Given the description of an element on the screen output the (x, y) to click on. 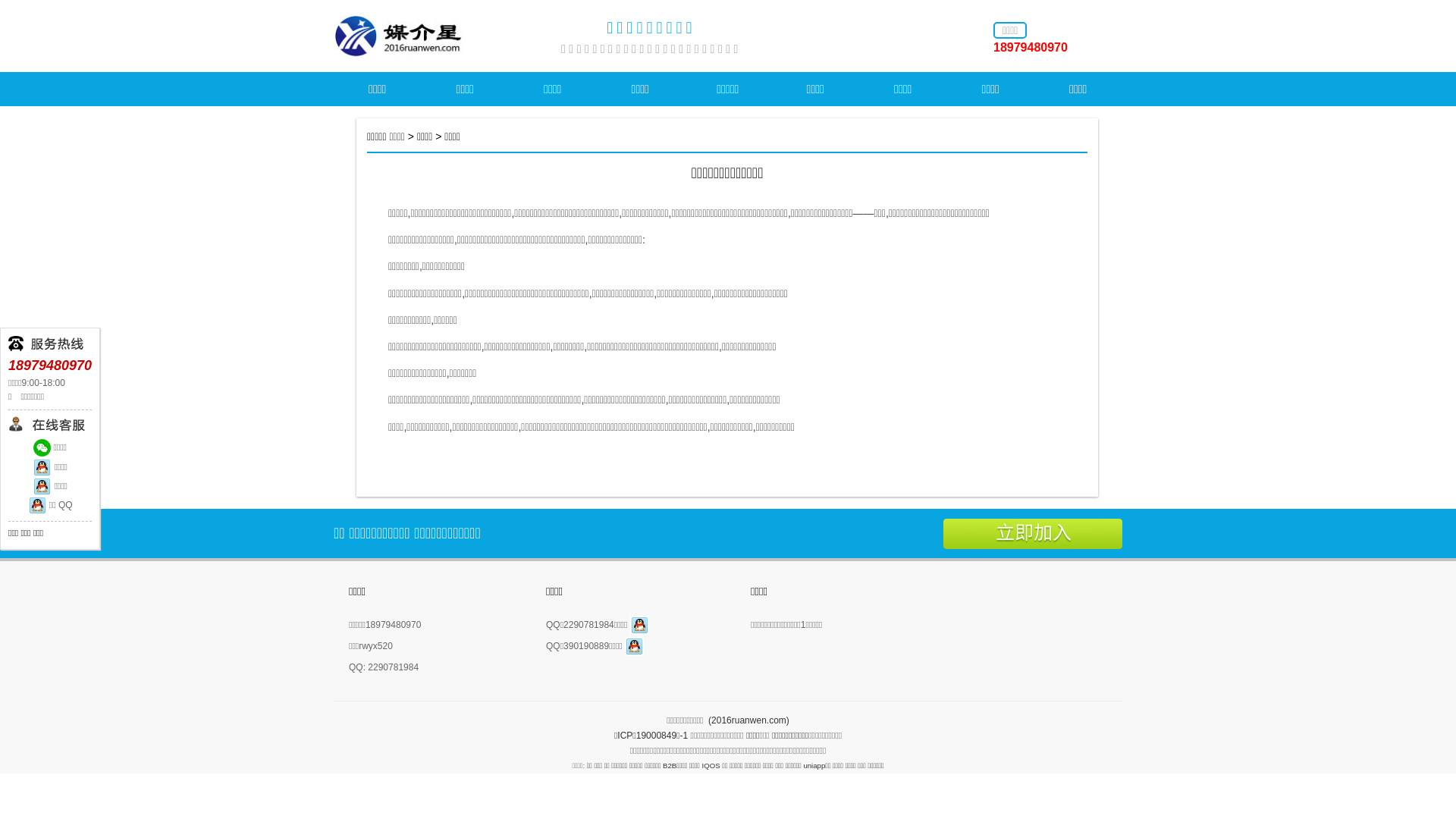
IQOS Element type: text (713, 766)
(2016ruanwen.com) Element type: text (748, 720)
